Given the description of an element on the screen output the (x, y) to click on. 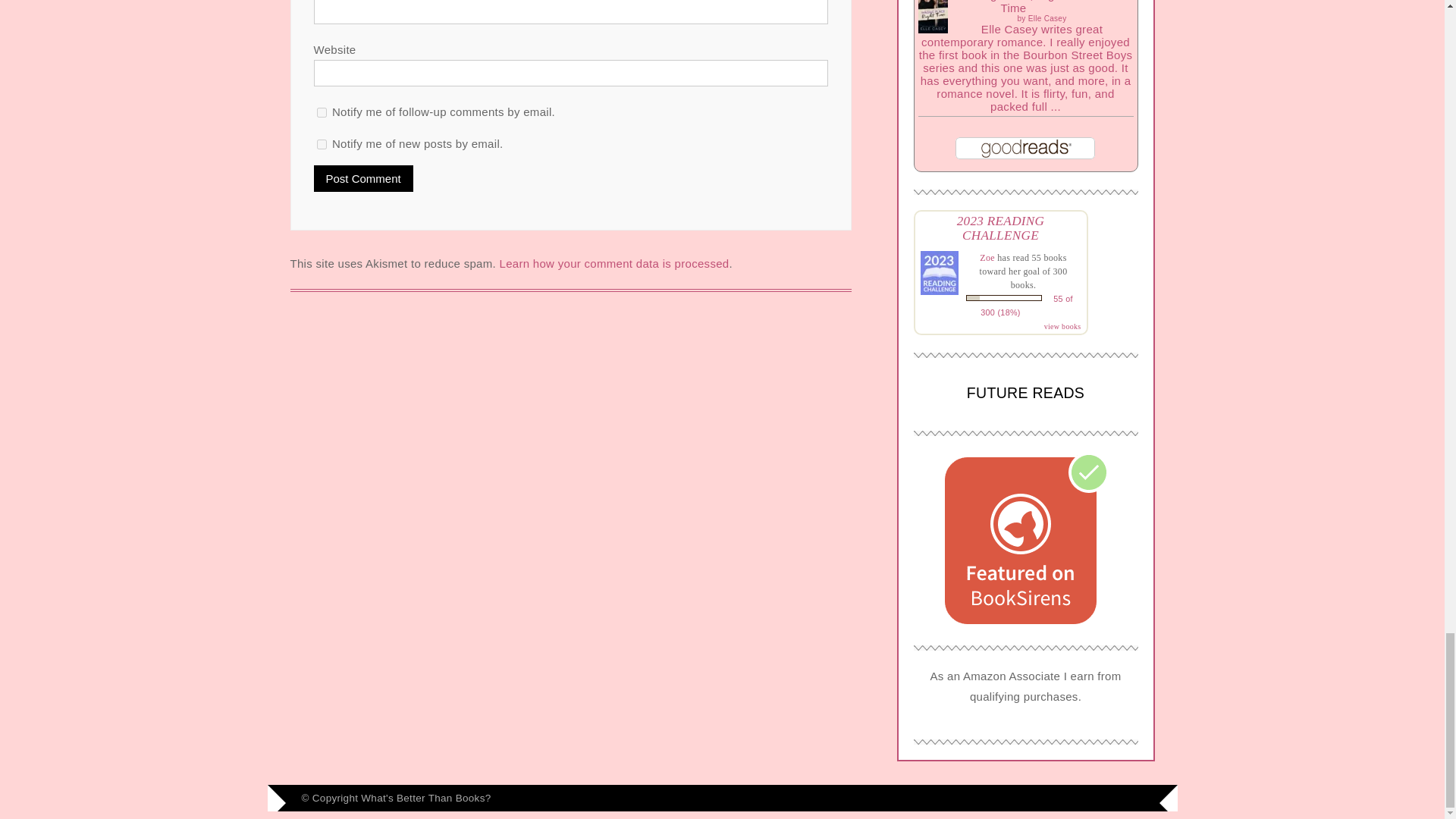
subscribe (321, 144)
subscribe (321, 112)
Post Comment (363, 178)
